Given the description of an element on the screen output the (x, y) to click on. 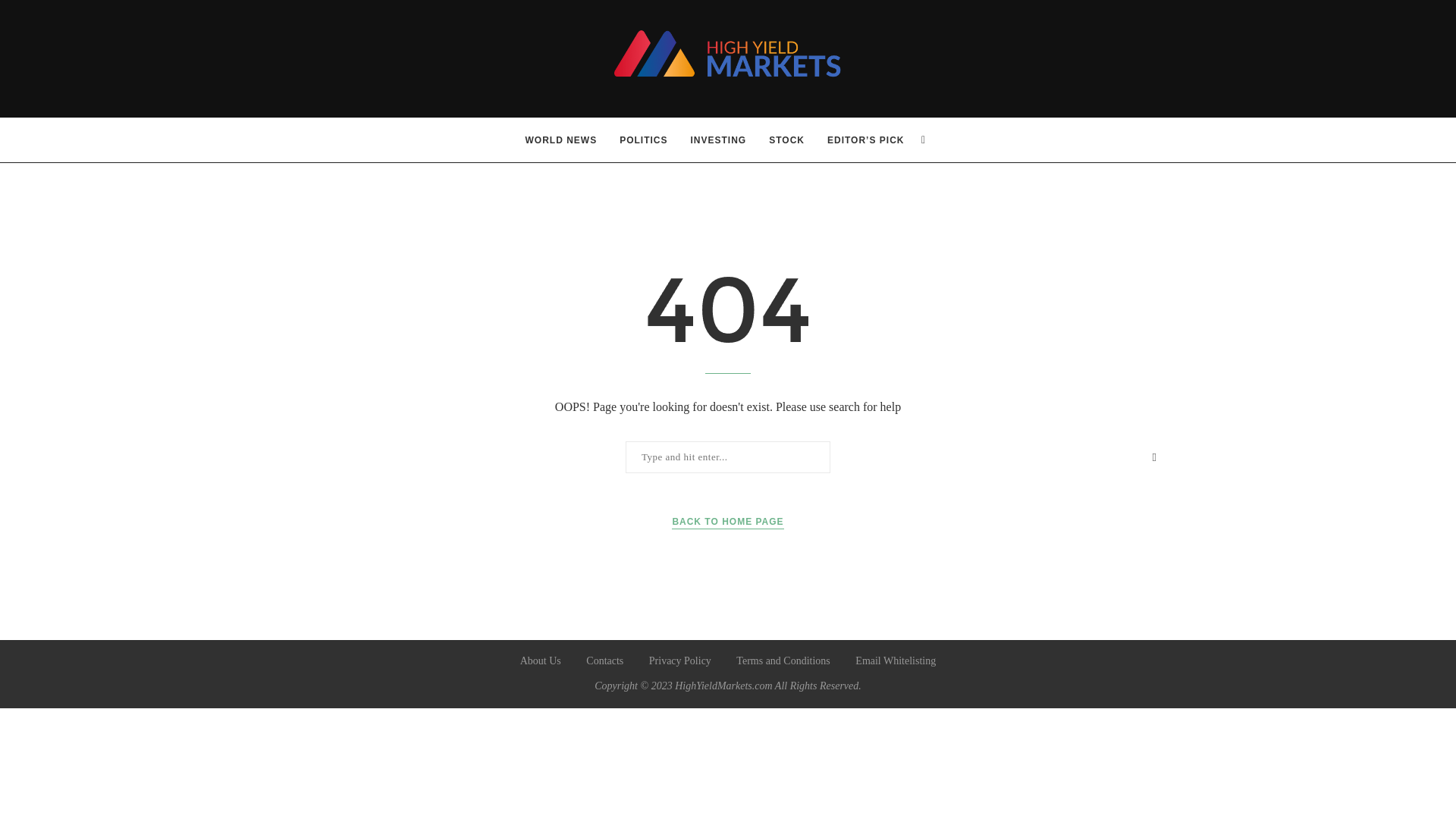
Contacts (604, 660)
Privacy Policy (680, 660)
POLITICS (643, 139)
Email Whitelisting (896, 660)
Terms and Conditions (782, 660)
INVESTING (718, 139)
WORLD NEWS (560, 139)
BACK TO HOME PAGE (727, 522)
About Us (539, 660)
